Given the description of an element on the screen output the (x, y) to click on. 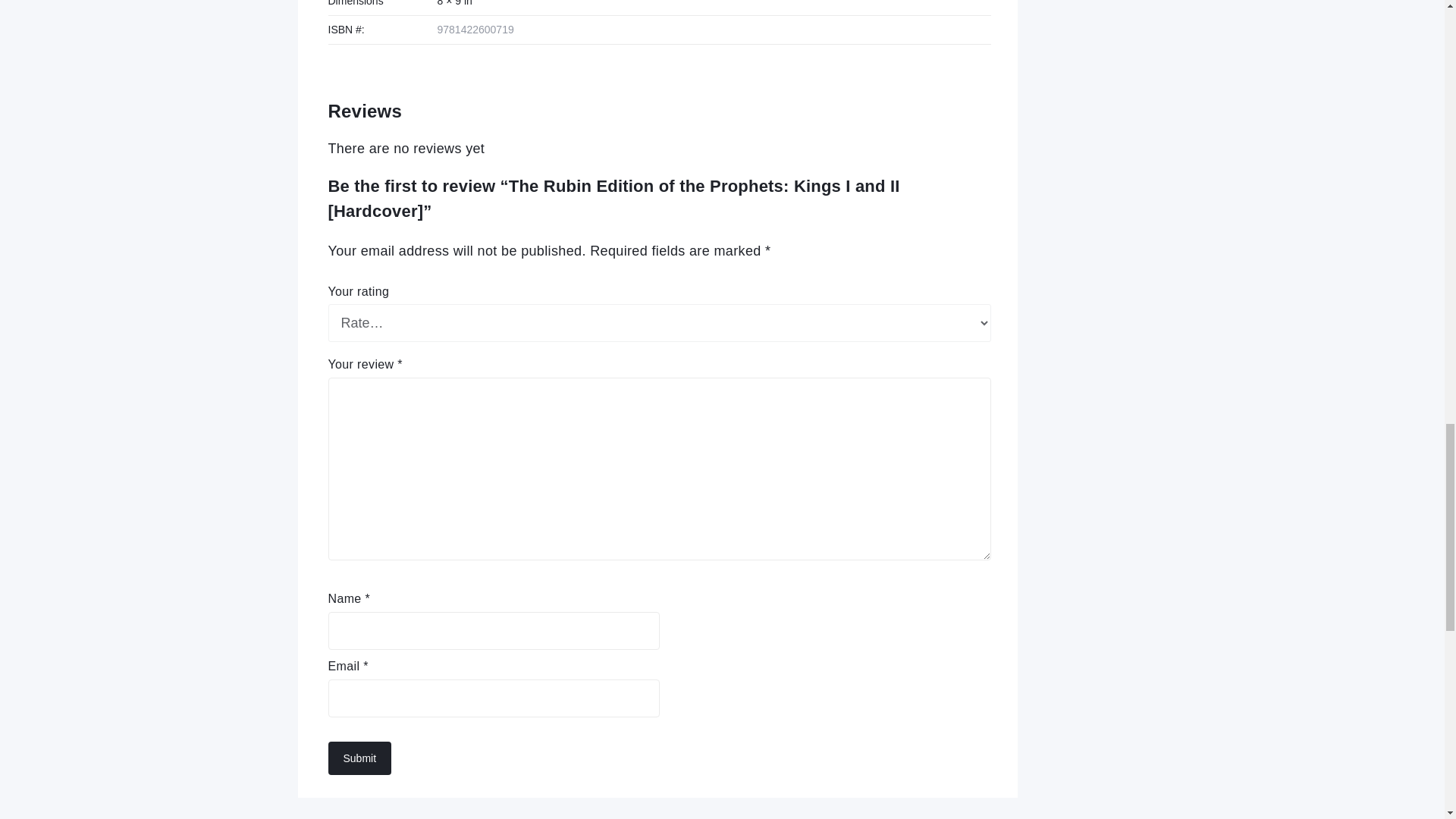
Submit (359, 758)
